Given the description of an element on the screen output the (x, y) to click on. 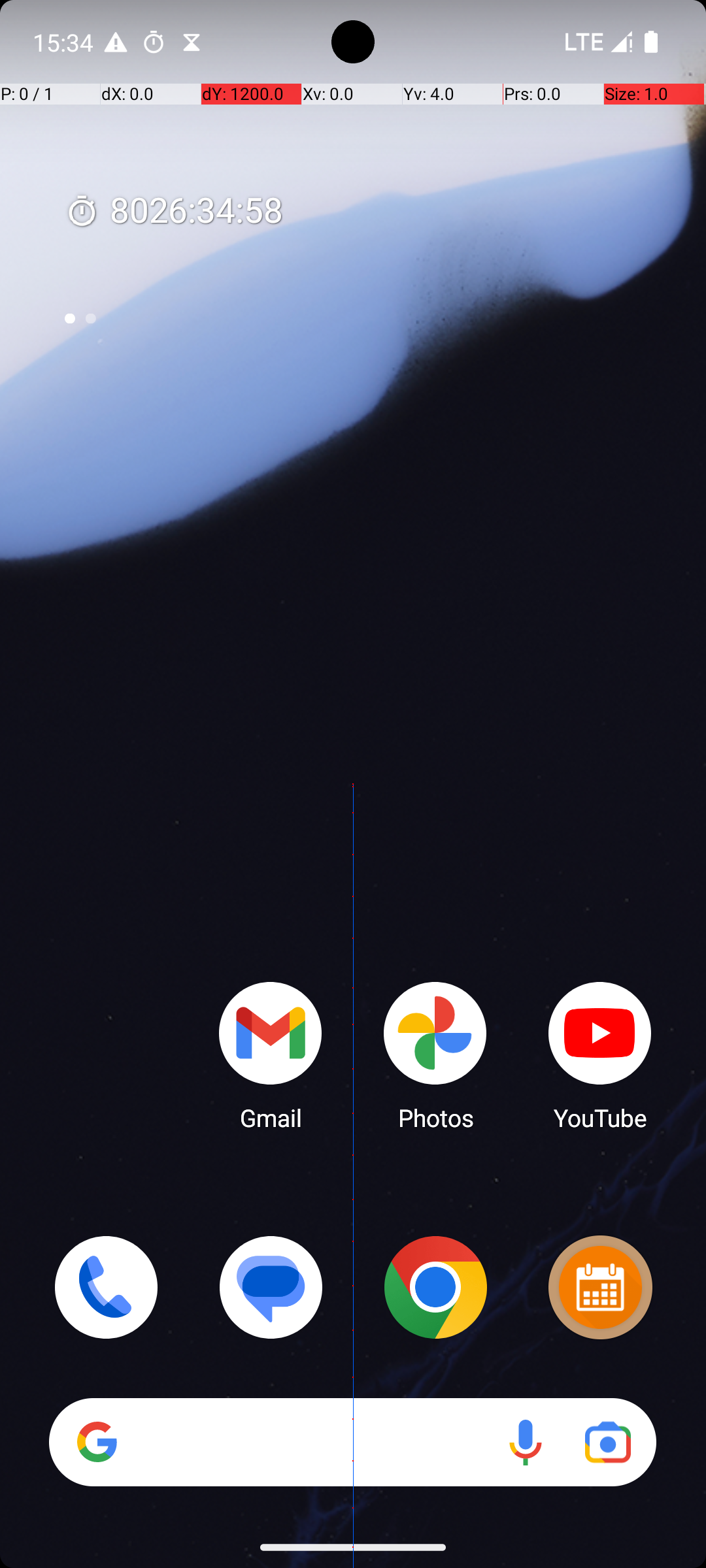
Calendar Element type: android.widget.TextView (599, 1287)
8026:34:58 Element type: android.widget.TextView (173, 210)
